Given the description of an element on the screen output the (x, y) to click on. 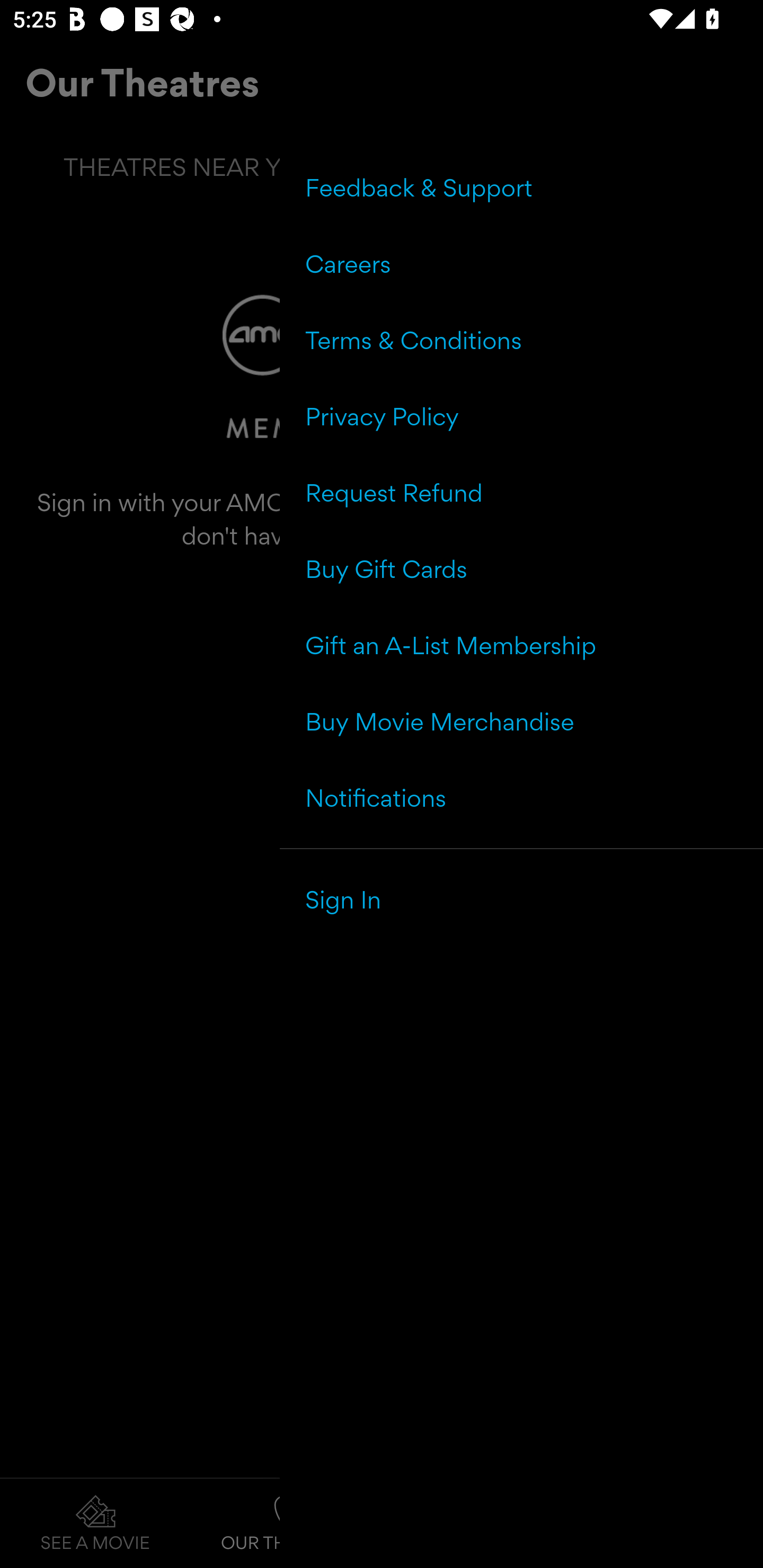
Feedback & Support (521, 186)
Careers (521, 263)
Terms & Conditions (521, 339)
Privacy Policy (521, 415)
Request Refund (521, 492)
Buy Gift Cards (521, 568)
Gift an A-List Membership (521, 644)
Buy Movie Merchandise (521, 720)
Notifications (521, 796)
Sign In (521, 898)
